Given the description of an element on the screen output the (x, y) to click on. 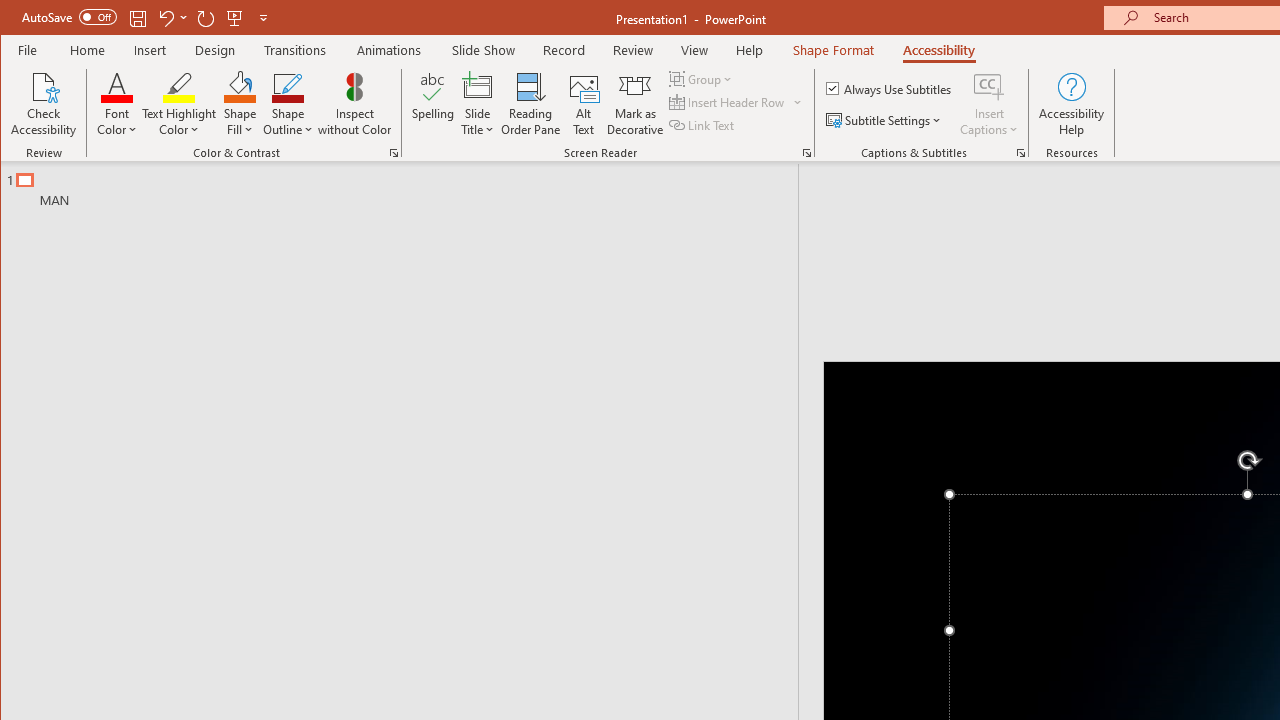
Slide Title (477, 86)
Mark as Decorative (635, 104)
Insert Captions (989, 86)
Always Use Subtitles (890, 88)
Color & Contrast (393, 152)
